Given the description of an element on the screen output the (x, y) to click on. 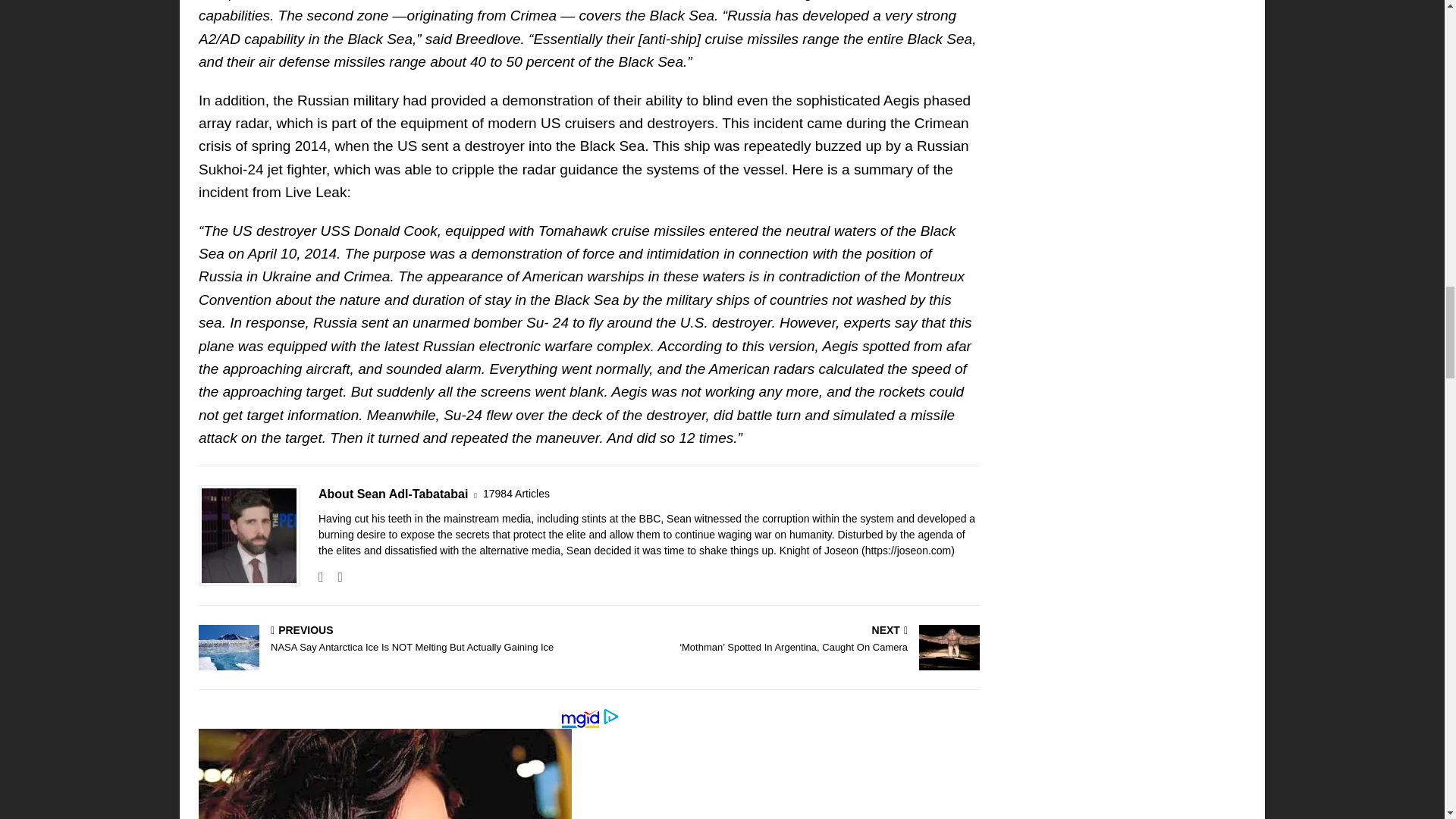
Follow Sean Adl-Tabatabai on Twitter (334, 576)
More articles written by Sean Adl-Tabatabai' (516, 494)
